Given the description of an element on the screen output the (x, y) to click on. 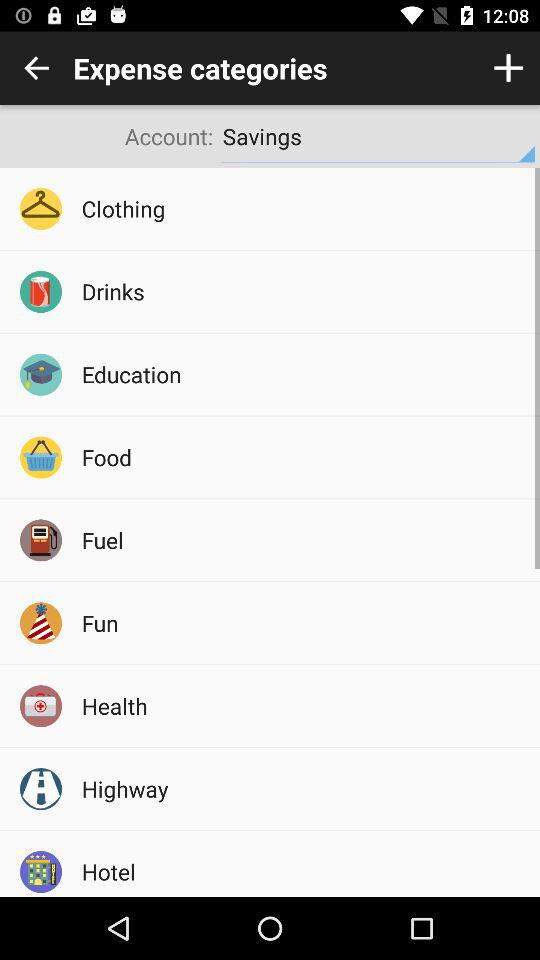
launch the fun (303, 622)
